Given the description of an element on the screen output the (x, y) to click on. 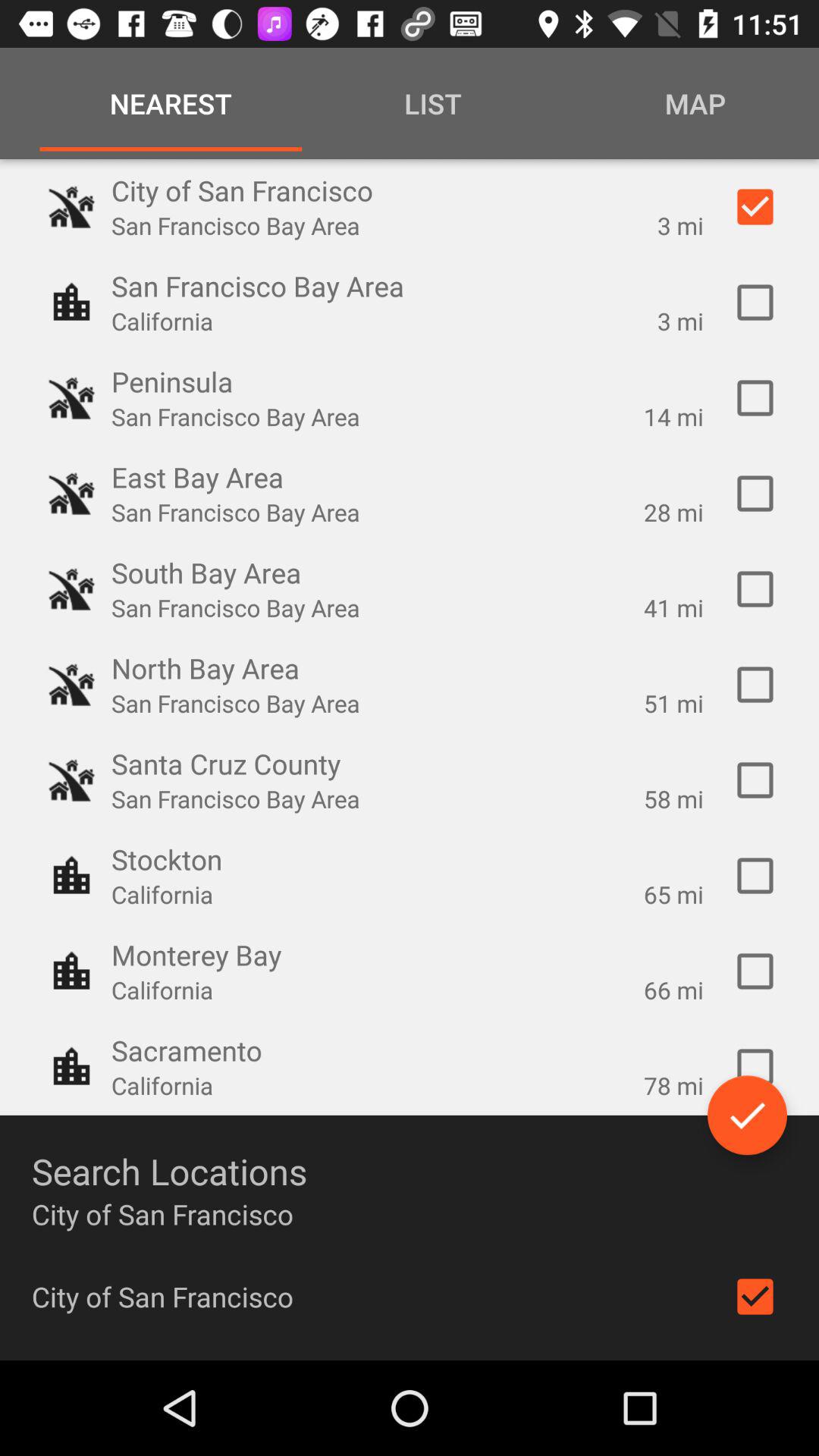
switch cruz option (755, 780)
